Given the description of an element on the screen output the (x, y) to click on. 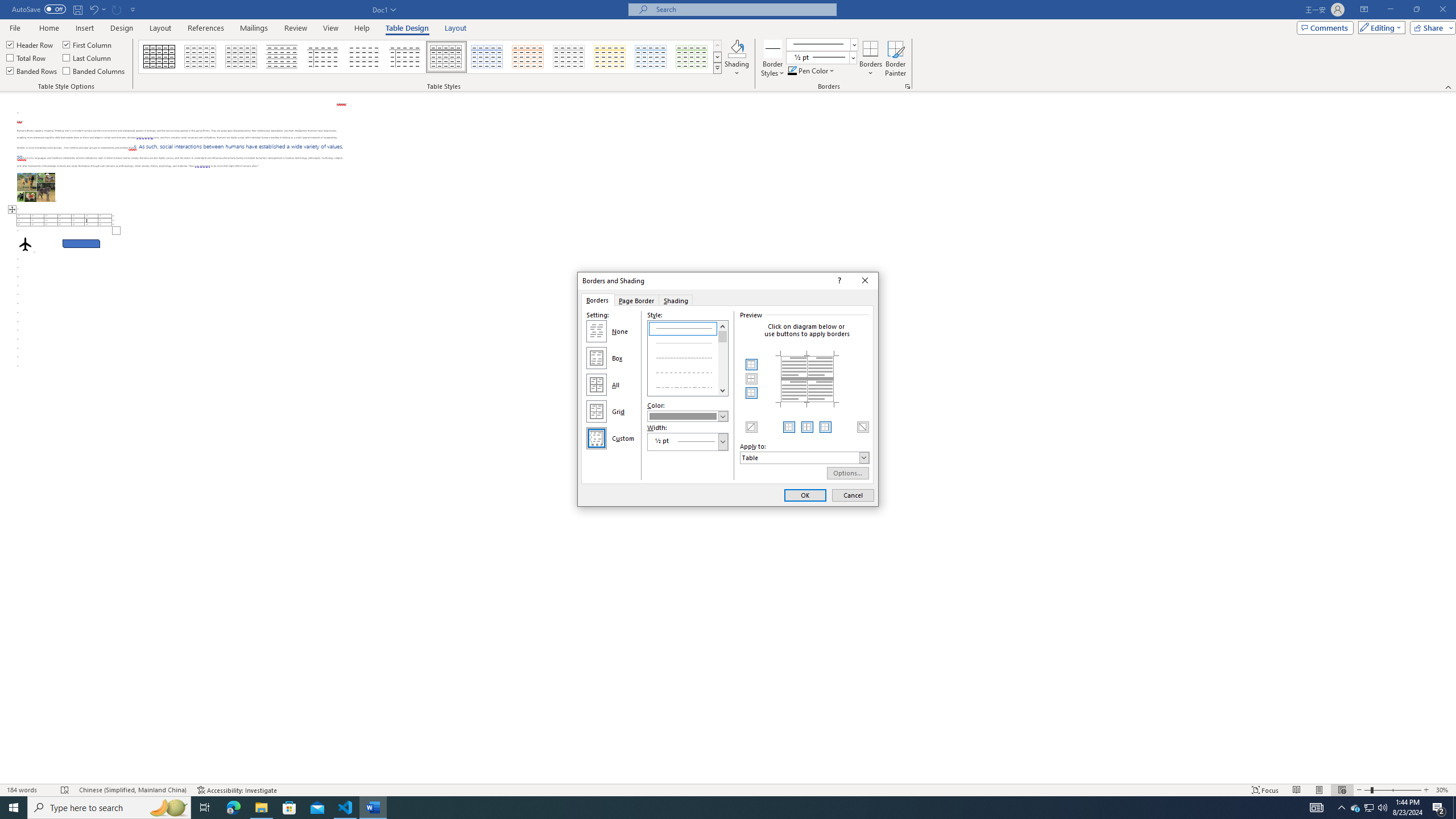
None (596, 331)
Customize Quick Access Toolbar (133, 9)
Spelling and Grammar Check Errors (65, 790)
Zoom (1392, 790)
Grid Table 1 Light - Accent 3 (568, 56)
MSO Generic Control Container (751, 364)
User Promoted Notification Area (1368, 807)
Print Layout (1318, 790)
OK (805, 495)
Can't Repeat (117, 9)
Quick Access Toolbar (74, 9)
Undo Row Height Spinner (92, 9)
Preview (806, 379)
Class: NetUIScrollBar (1450, 437)
